Given the description of an element on the screen output the (x, y) to click on. 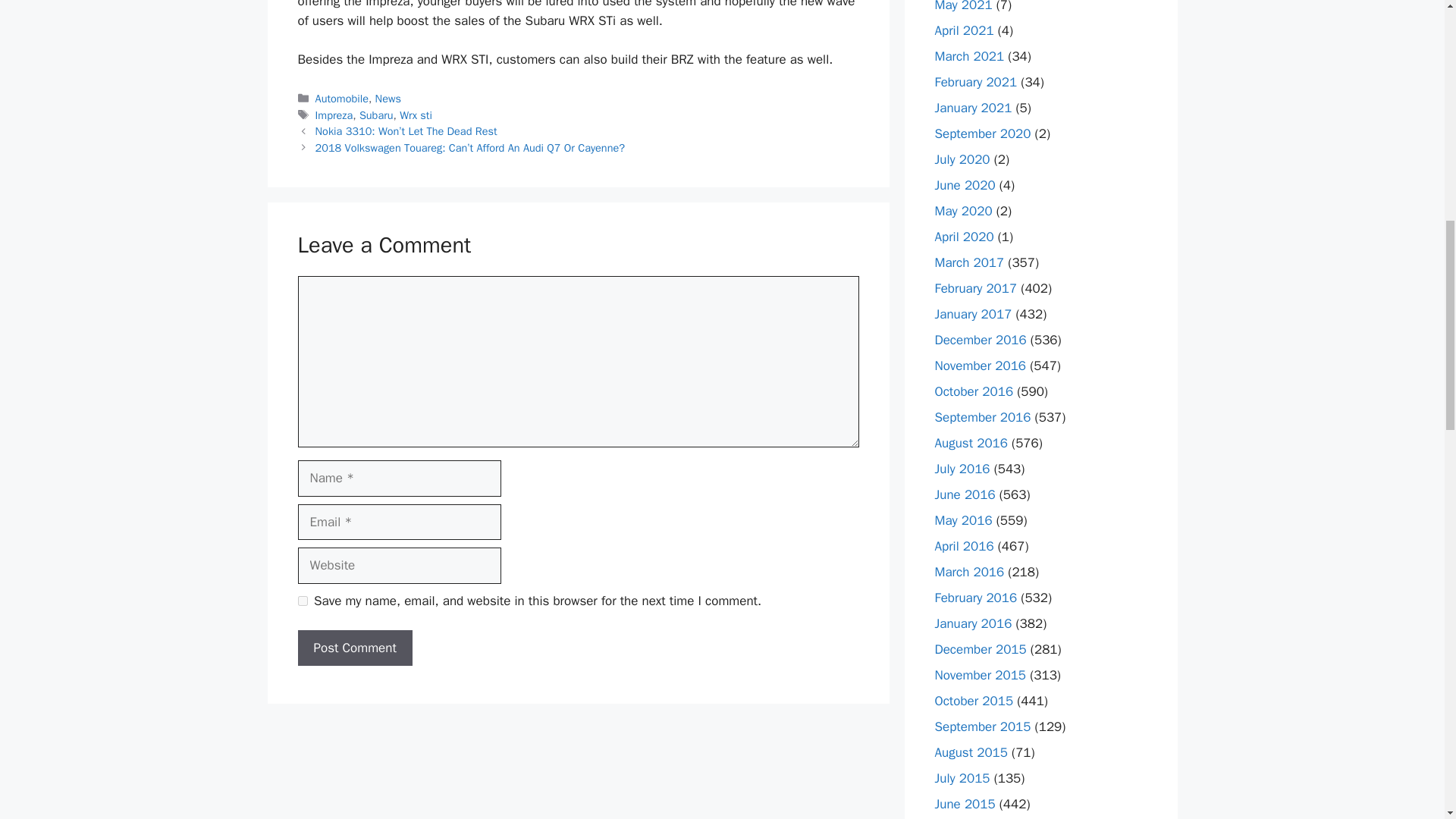
Wrx sti (415, 115)
yes (302, 601)
Post Comment (354, 647)
Subaru (376, 115)
Automobile (341, 98)
News (388, 98)
Impreza (334, 115)
Post Comment (354, 647)
